Given the description of an element on the screen output the (x, y) to click on. 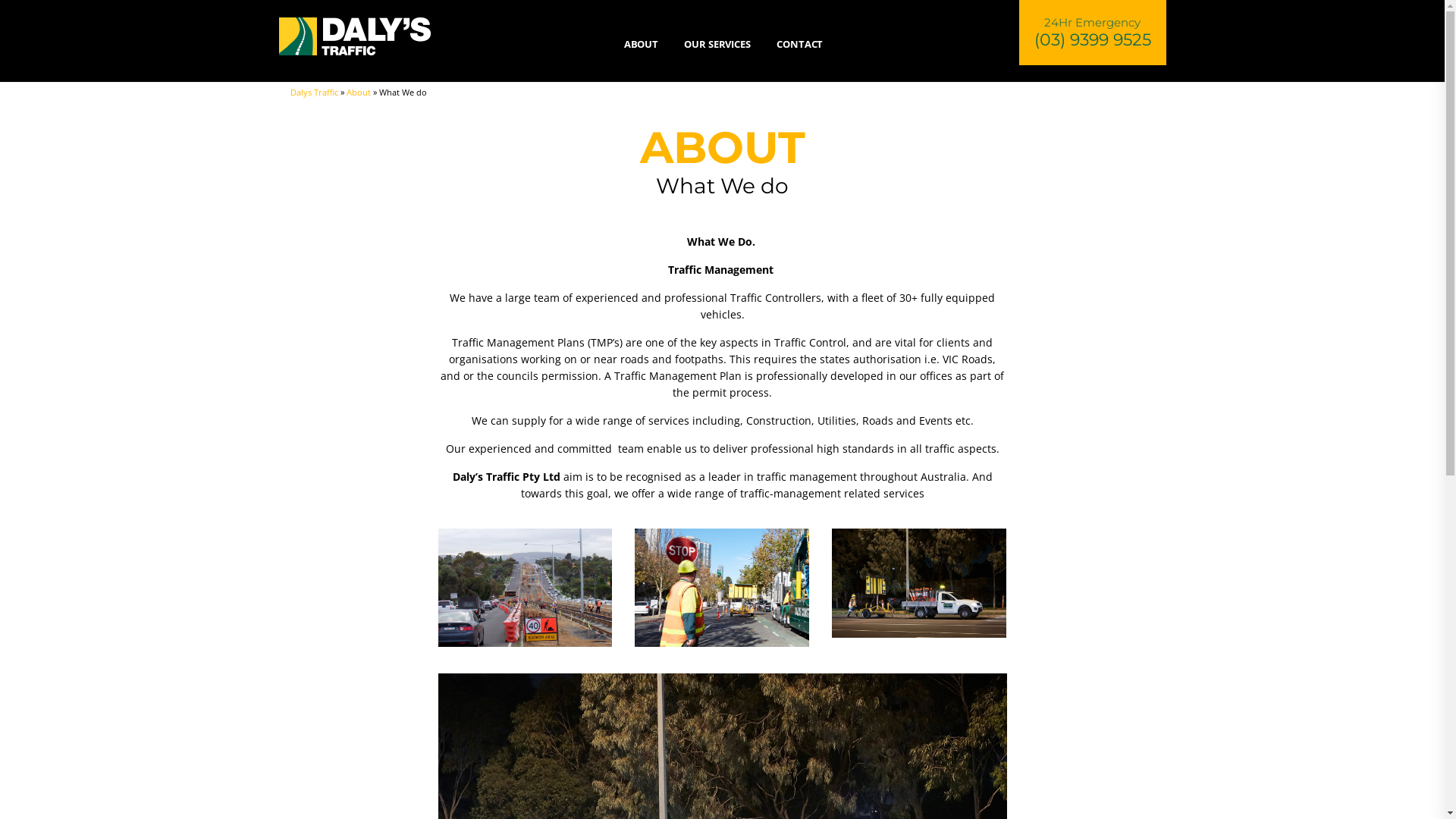
About Element type: text (357, 91)
ABOUT Element type: text (647, 44)
OUR SERVICES Element type: text (717, 44)
CONTACT Element type: text (799, 44)
Dalys Traffic Element type: text (313, 91)
(03) 9399 9525 Element type: text (1092, 39)
